Given the description of an element on the screen output the (x, y) to click on. 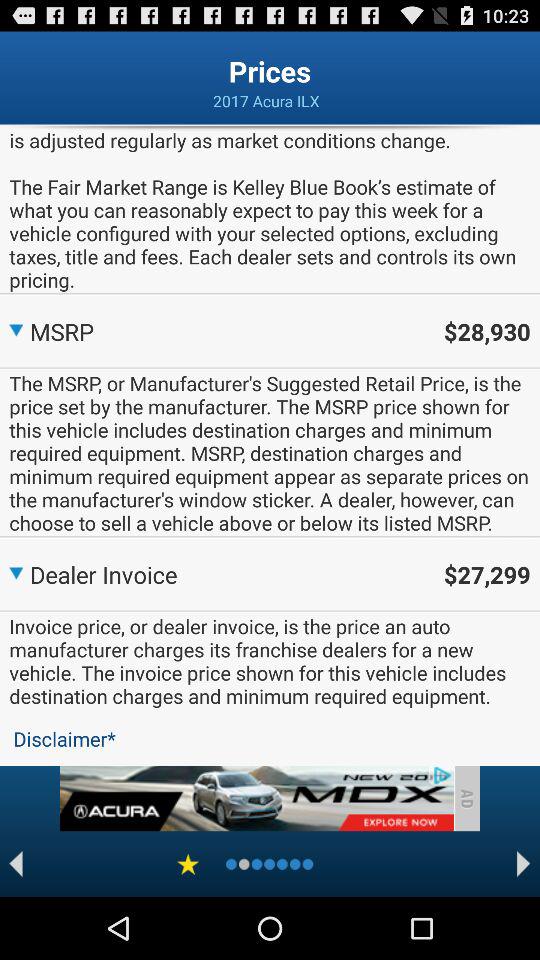
announcement (256, 798)
